Given the description of an element on the screen output the (x, y) to click on. 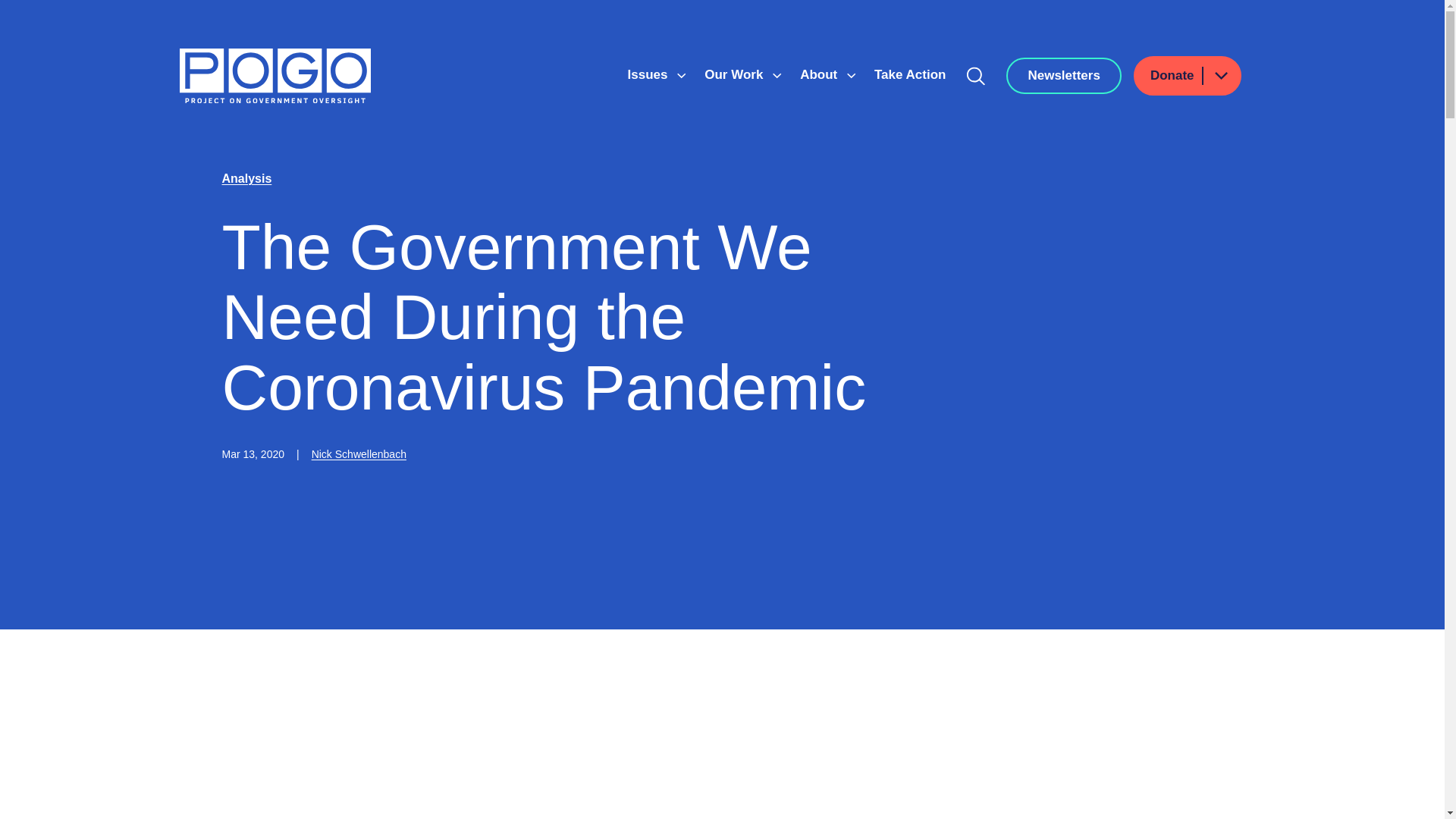
Show submenu for About (851, 75)
Show submenu for Our Work (777, 75)
Home (274, 75)
Show submenu for Issues (681, 75)
Search (976, 75)
Issues (649, 74)
Newsletters (1063, 75)
Take Action (909, 74)
About (820, 74)
Donate (1187, 75)
